Given the description of an element on the screen output the (x, y) to click on. 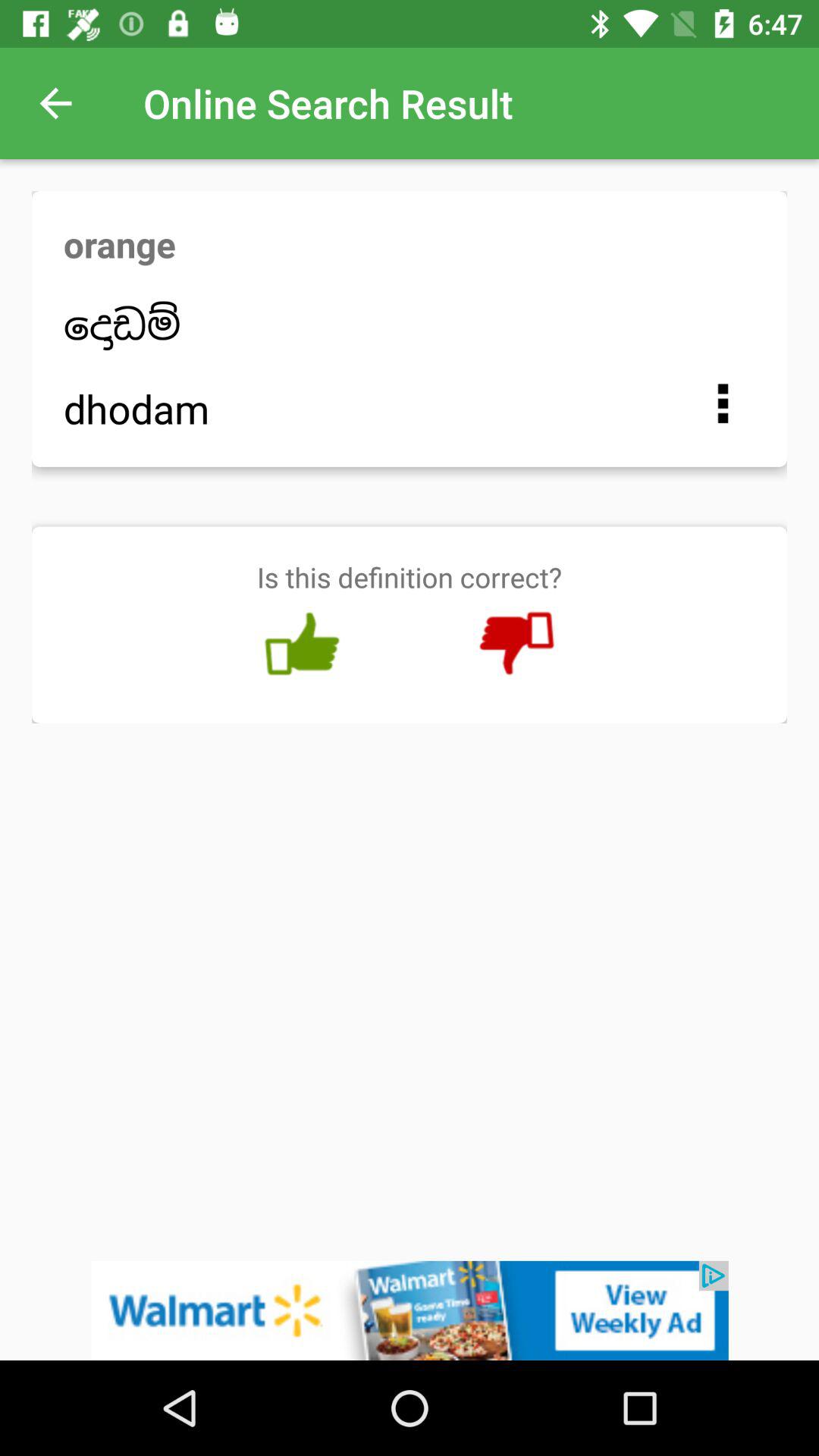
like (301, 643)
